Given the description of an element on the screen output the (x, y) to click on. 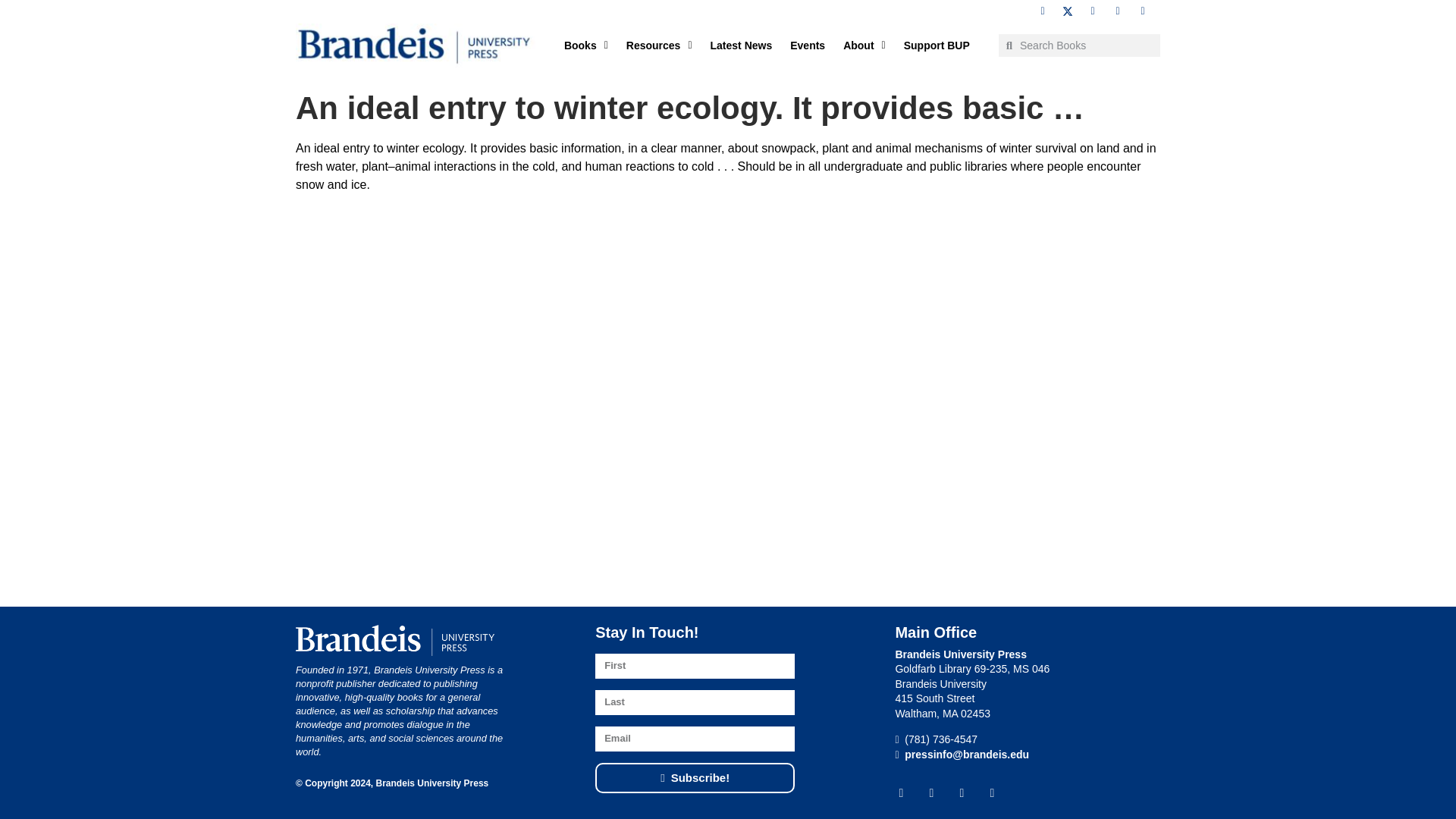
Books (585, 45)
